Given the description of an element on the screen output the (x, y) to click on. 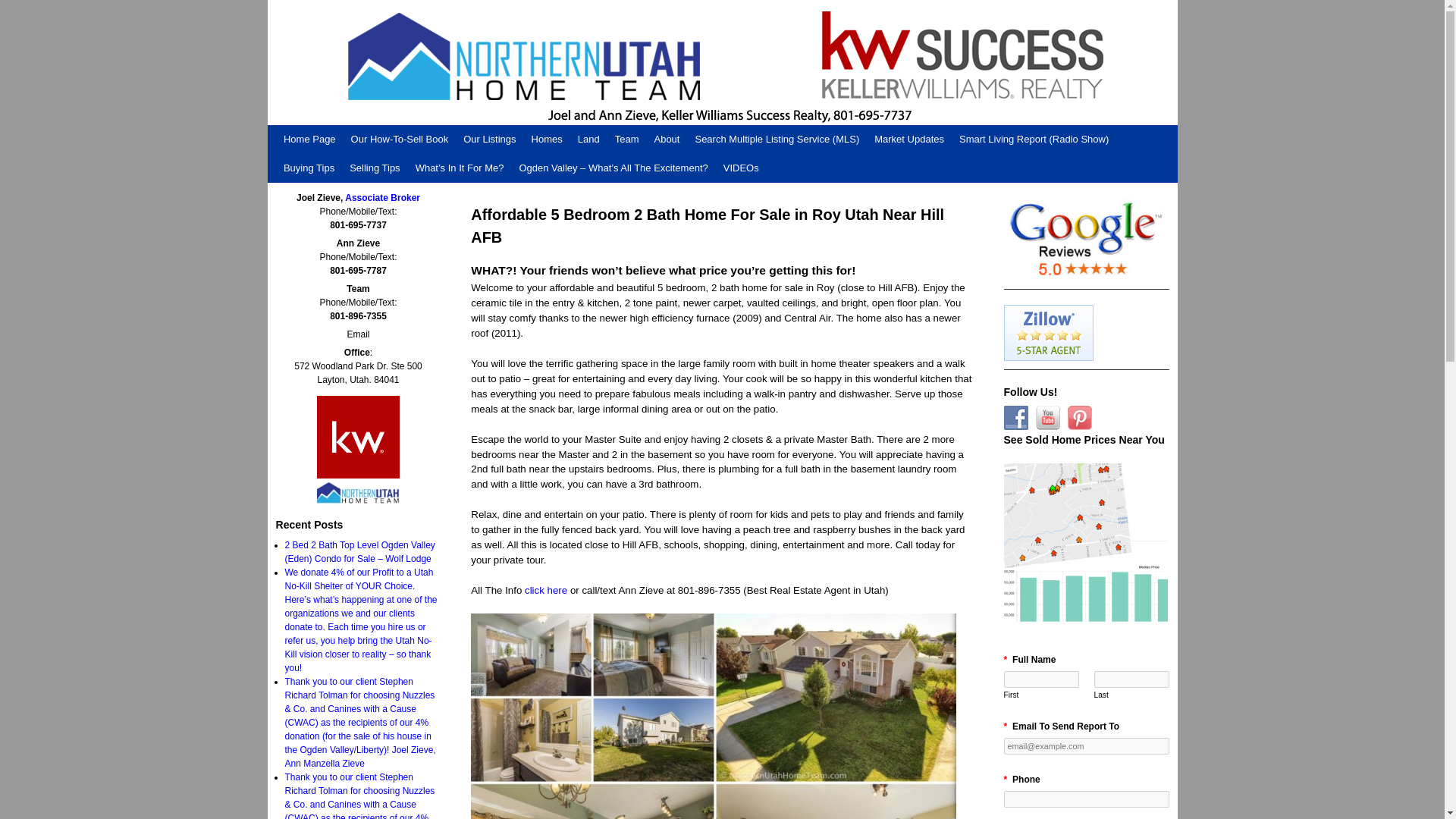
Skip to primary content (304, 130)
Land (588, 139)
Our Listings (488, 139)
Buying Tips (309, 167)
Roy Utah home for sale (545, 590)
Northern Utah Home Team (721, 62)
Follow Us on Pinterest (1079, 417)
Selling Tips (374, 167)
VIDEOs (741, 167)
Team (626, 139)
Skip to secondary content (309, 130)
Associate Broker (382, 197)
Follow Us on YouTube (1047, 417)
click here (545, 590)
Our How-To-Sell Book (400, 139)
